Given the description of an element on the screen output the (x, y) to click on. 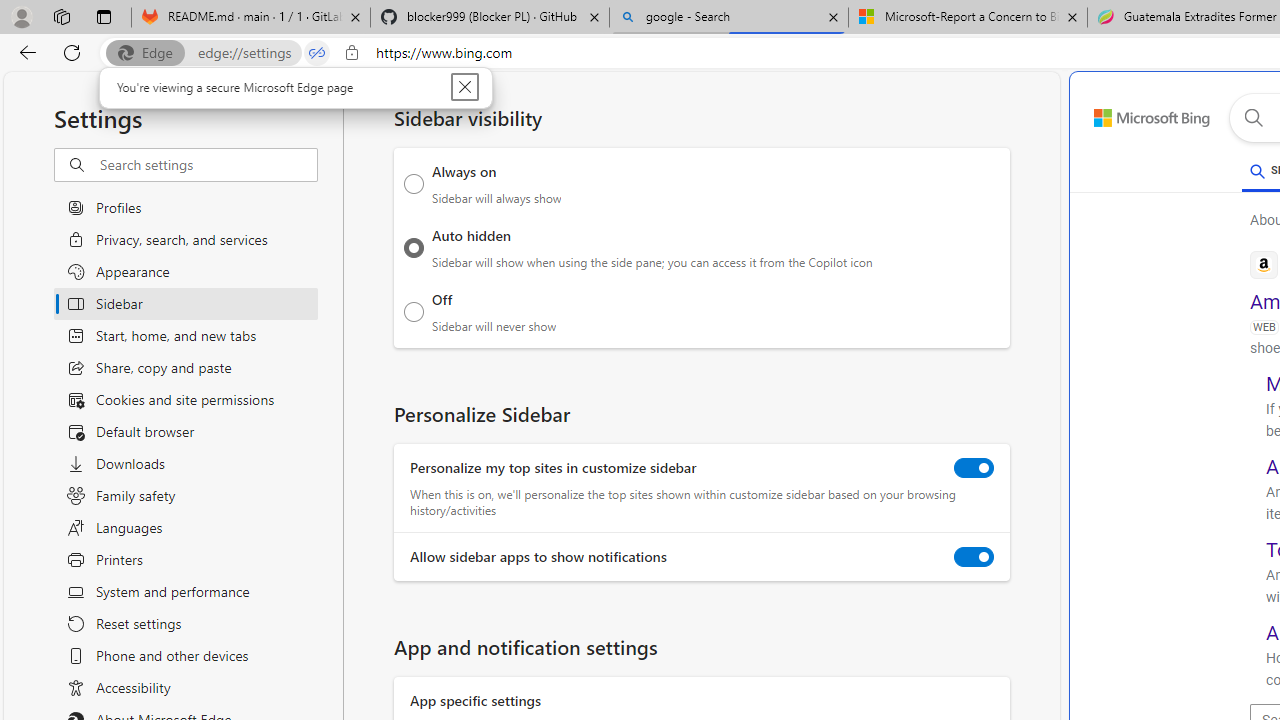
Personalize my top sites in customize sidebar (973, 467)
Always on Sidebar will always show (413, 183)
Search button (1253, 117)
Allow sidebar apps to show notifications (973, 557)
